Given the description of an element on the screen output the (x, y) to click on. 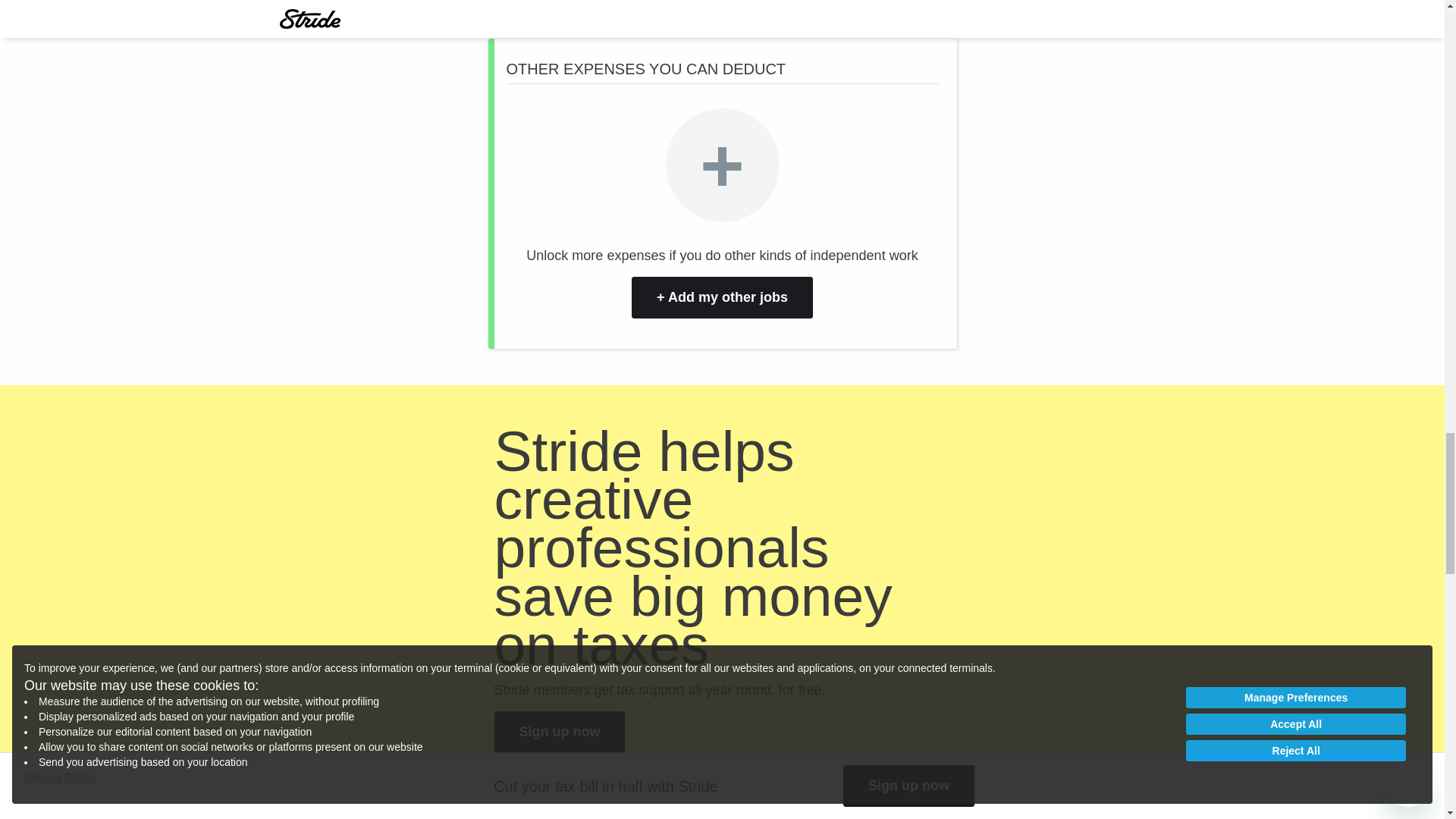
Sign up now (560, 731)
